Given the description of an element on the screen output the (x, y) to click on. 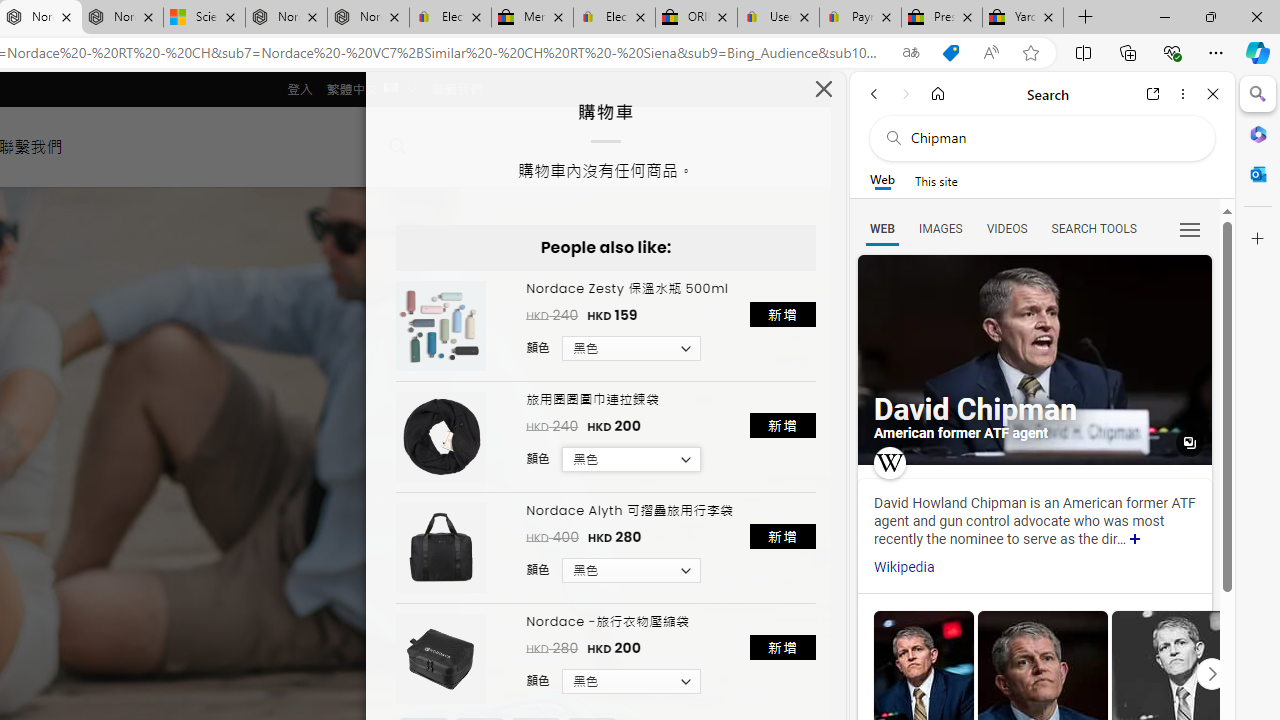
SEARCH TOOLS (1093, 228)
Payments Terms of Use | eBay.com (860, 17)
Show more (1135, 539)
